Given the description of an element on the screen output the (x, y) to click on. 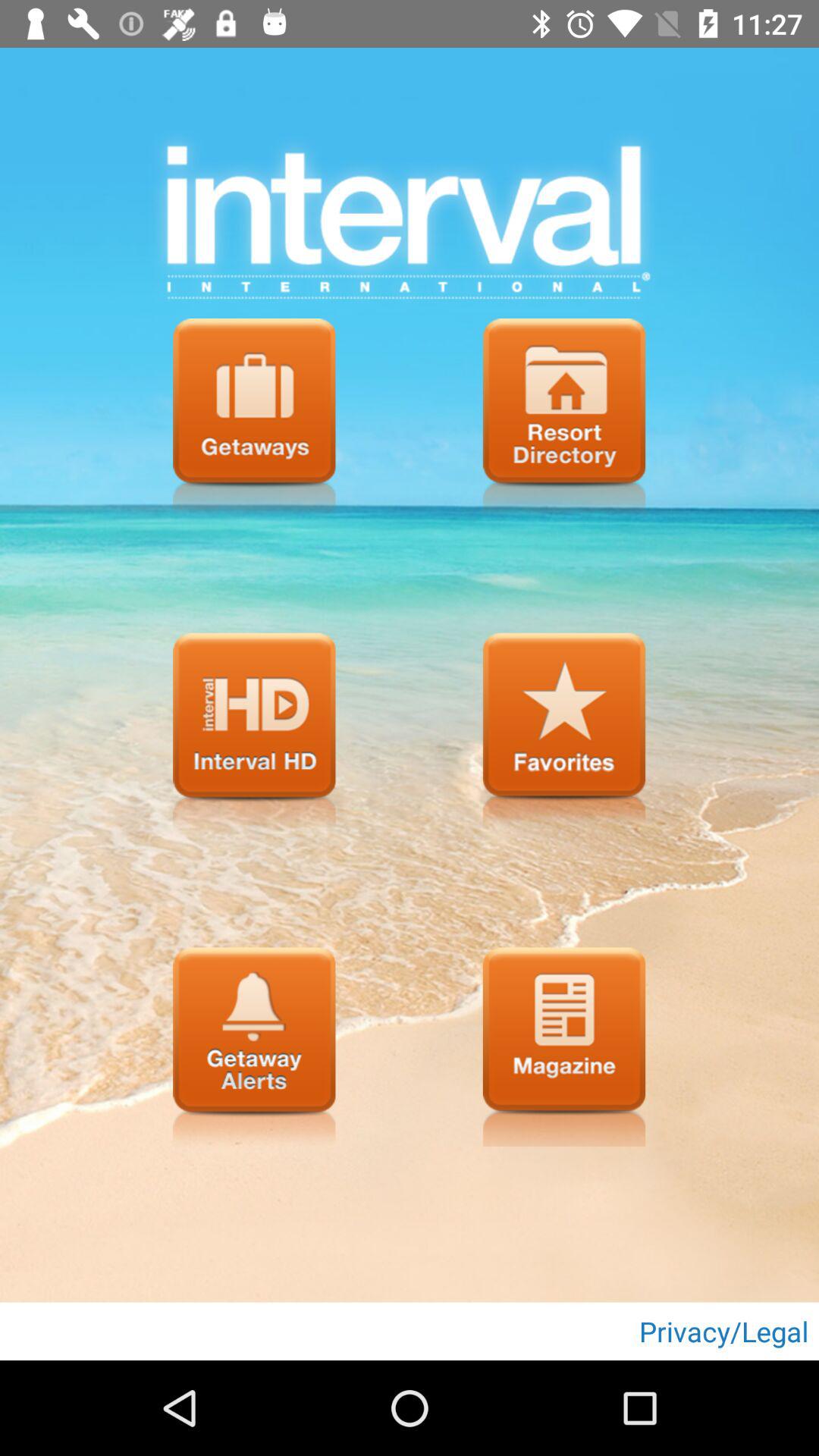
munu page (253, 732)
